Given the description of an element on the screen output the (x, y) to click on. 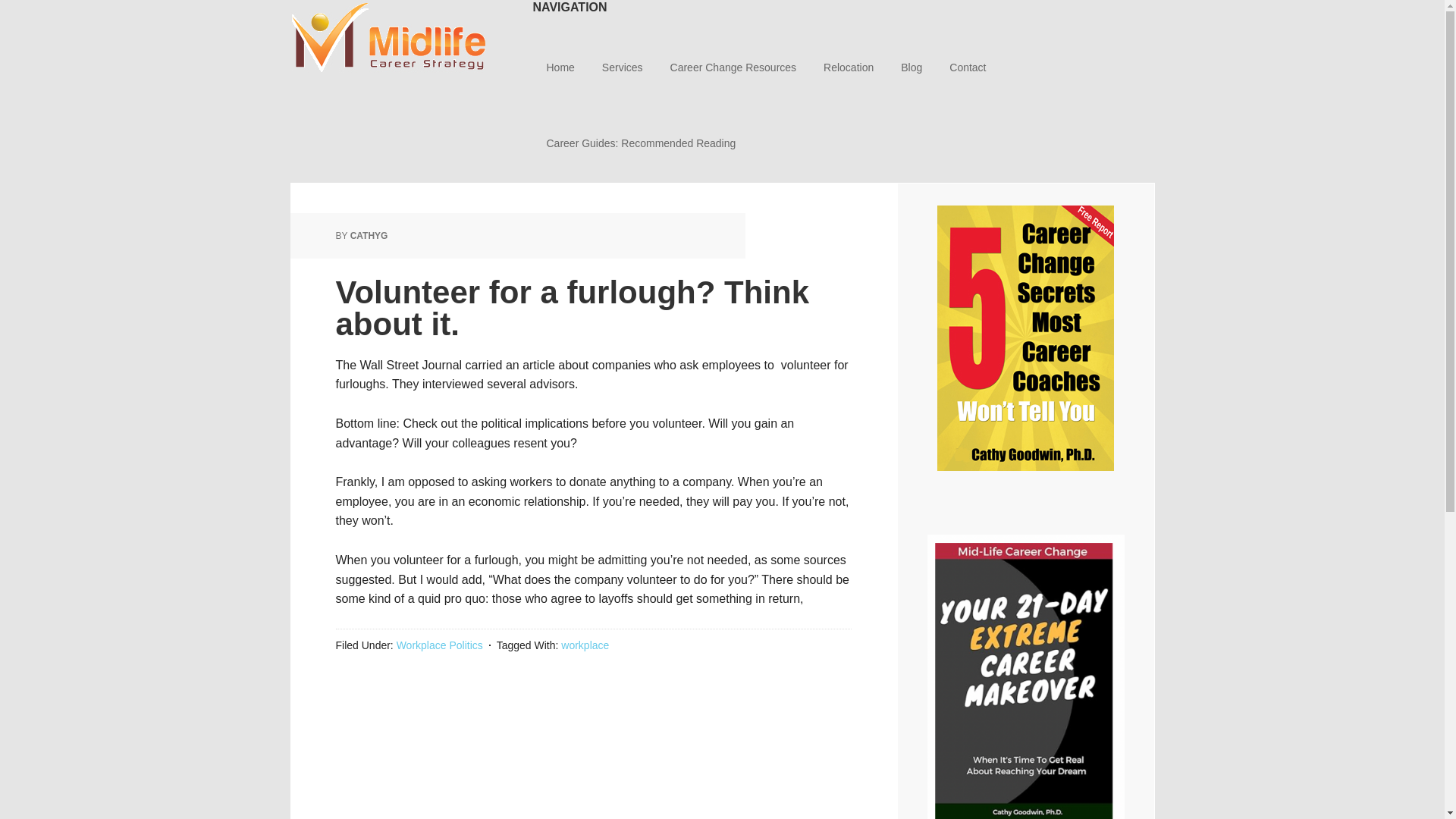
Midlife Career Strategy (387, 38)
Services (622, 68)
Workplace Politics (439, 645)
workplace (584, 645)
Career Change Resources (733, 68)
Relocation (847, 68)
Career Guides: Recommended Reading (640, 143)
CATHYG (369, 235)
